Given the description of an element on the screen output the (x, y) to click on. 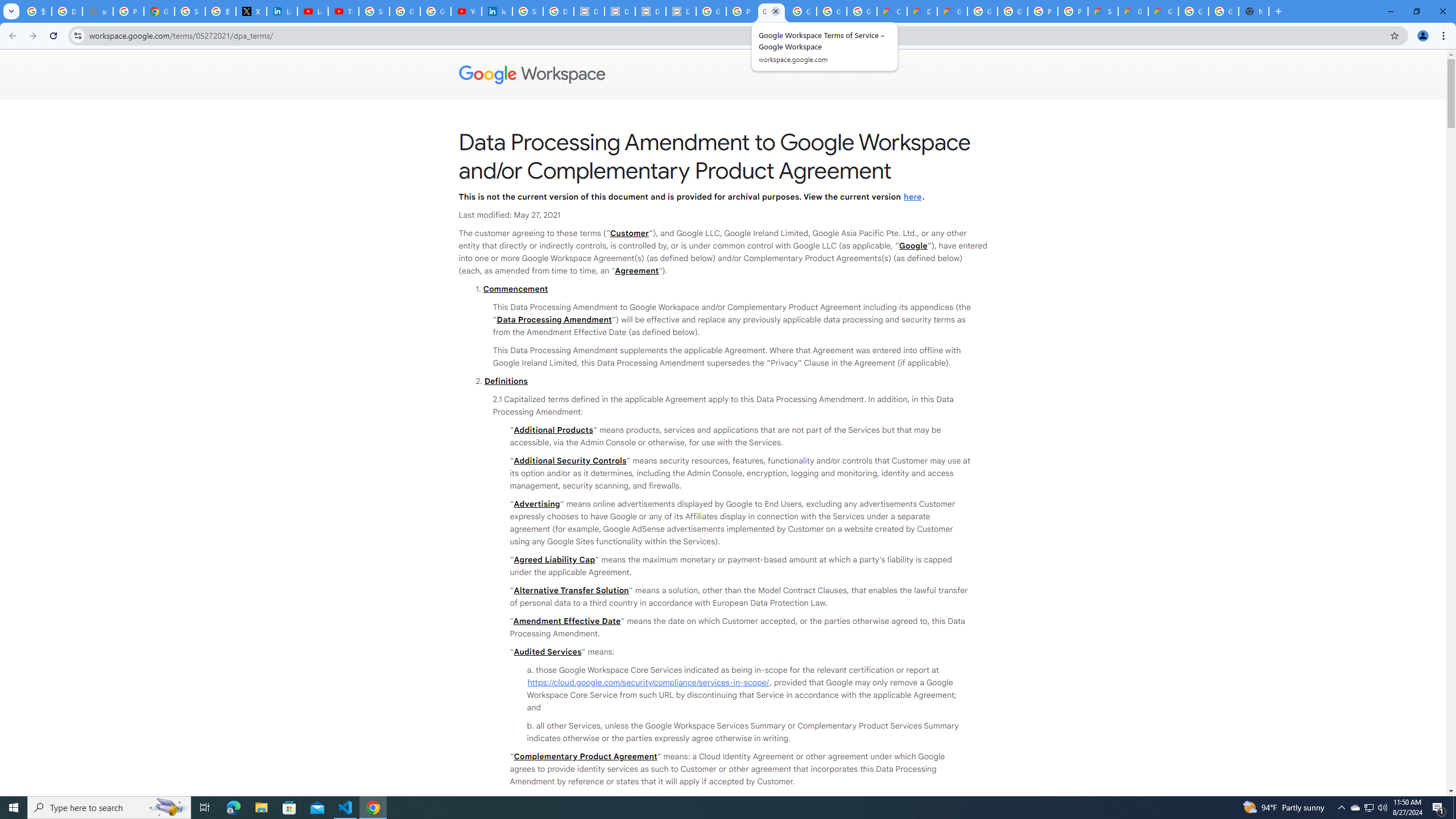
Sign in - Google Accounts (373, 11)
